Given the description of an element on the screen output the (x, y) to click on. 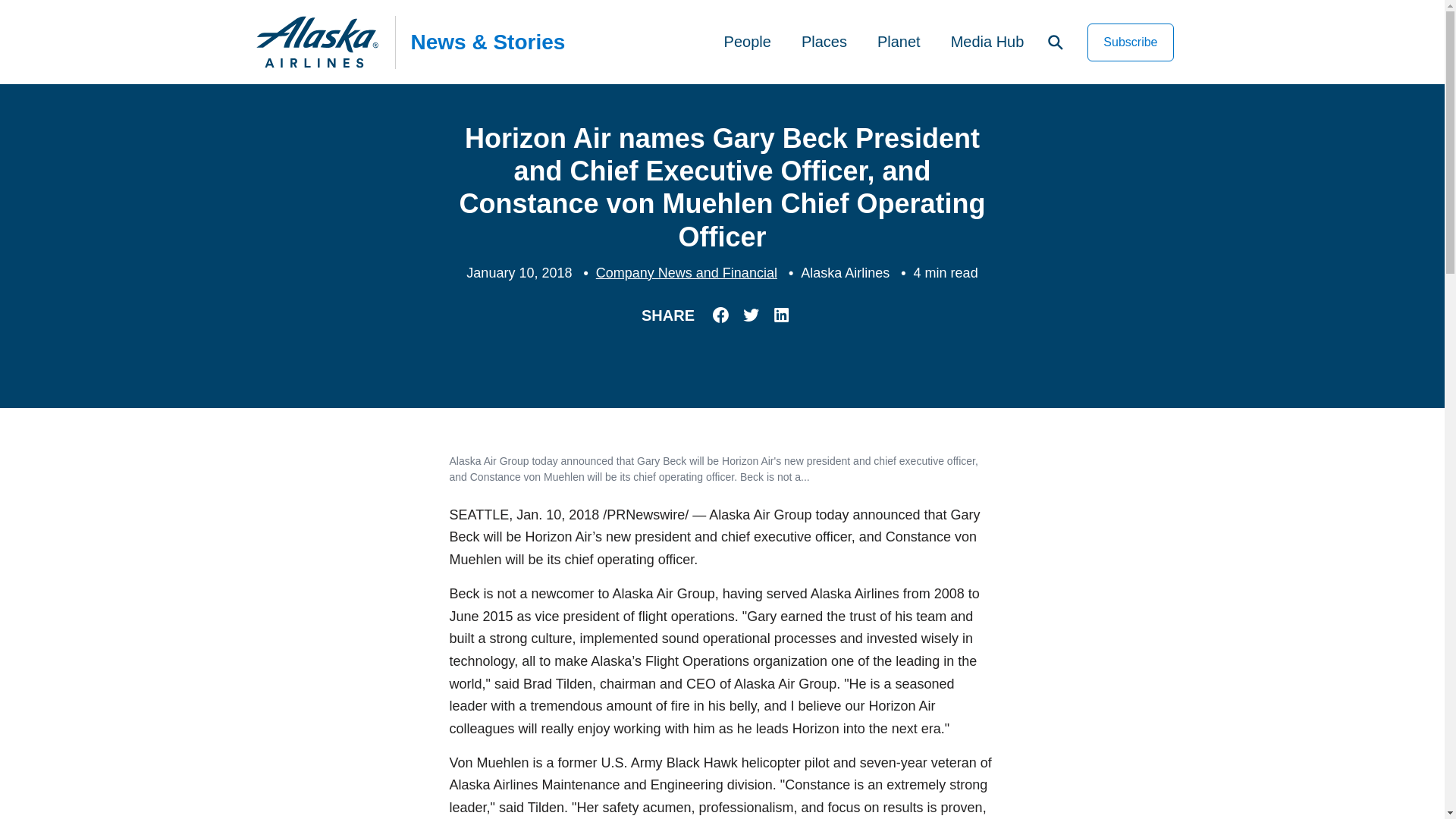
Click to share on LinkedIn (778, 314)
Click to share on Facebook (718, 314)
Search (1055, 42)
Subscribe (1130, 41)
Subscribe (1130, 41)
Alaska Airlines News (318, 41)
Click to share on Twitter (748, 314)
SEARCH (1055, 42)
Company News and Financial (686, 272)
